Given the description of an element on the screen output the (x, y) to click on. 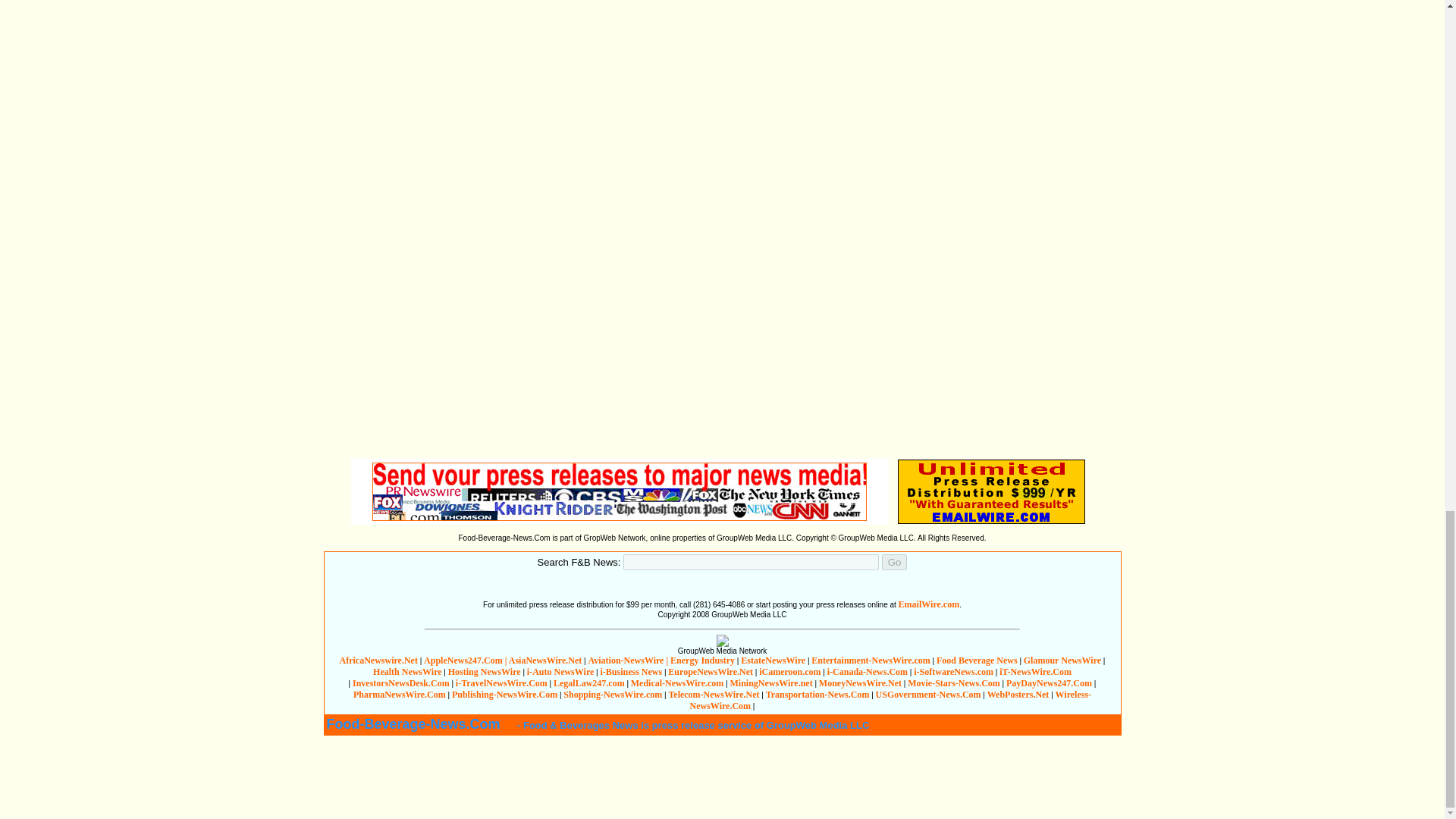
Go (894, 562)
Advertisement (721, 776)
Advertisement (654, 109)
